Given the description of an element on the screen output the (x, y) to click on. 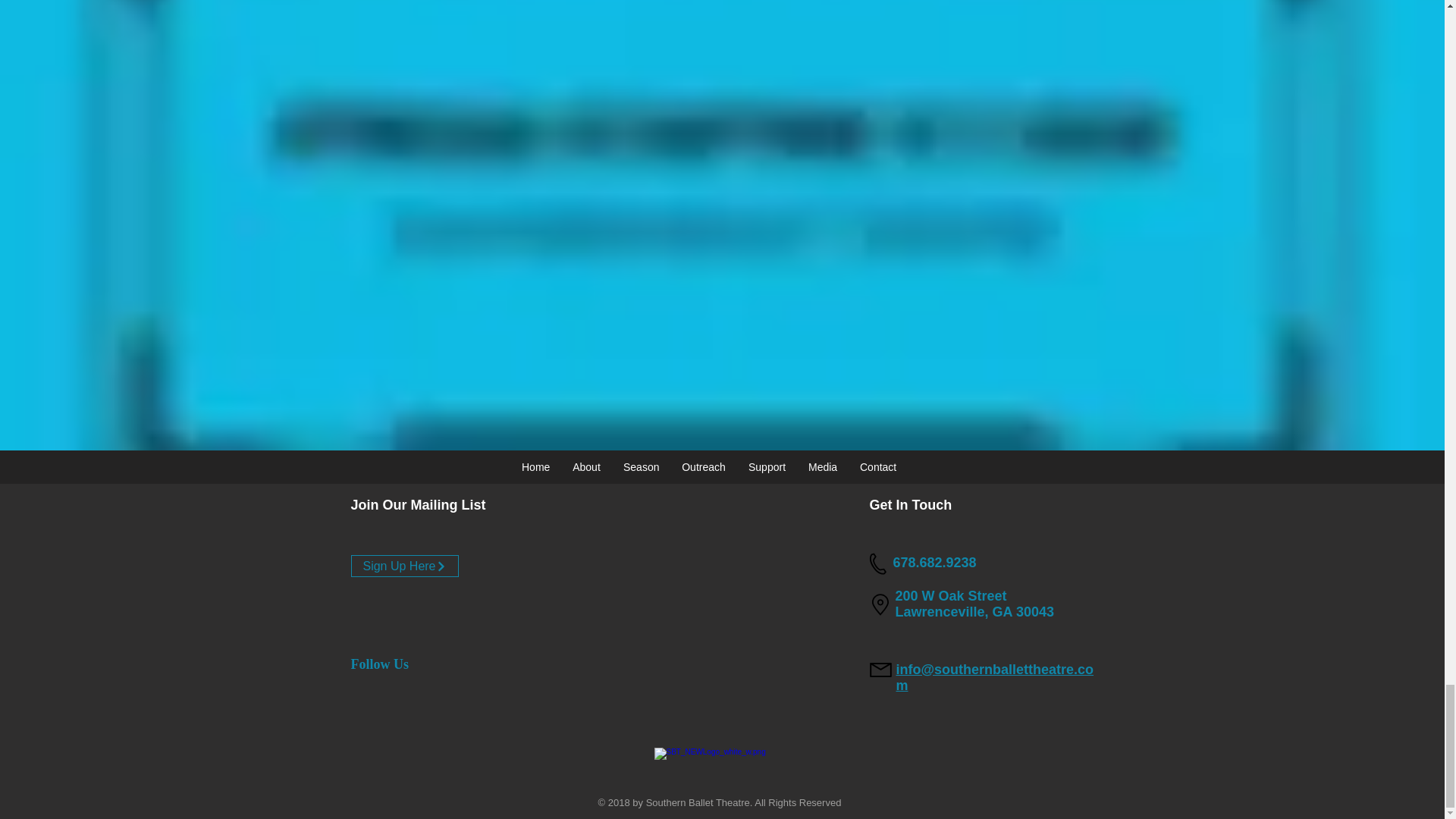
Media (822, 466)
Contact (877, 466)
About (585, 466)
Outreach (702, 466)
Home (535, 466)
Sign Up Here (404, 566)
